Given the description of an element on the screen output the (x, y) to click on. 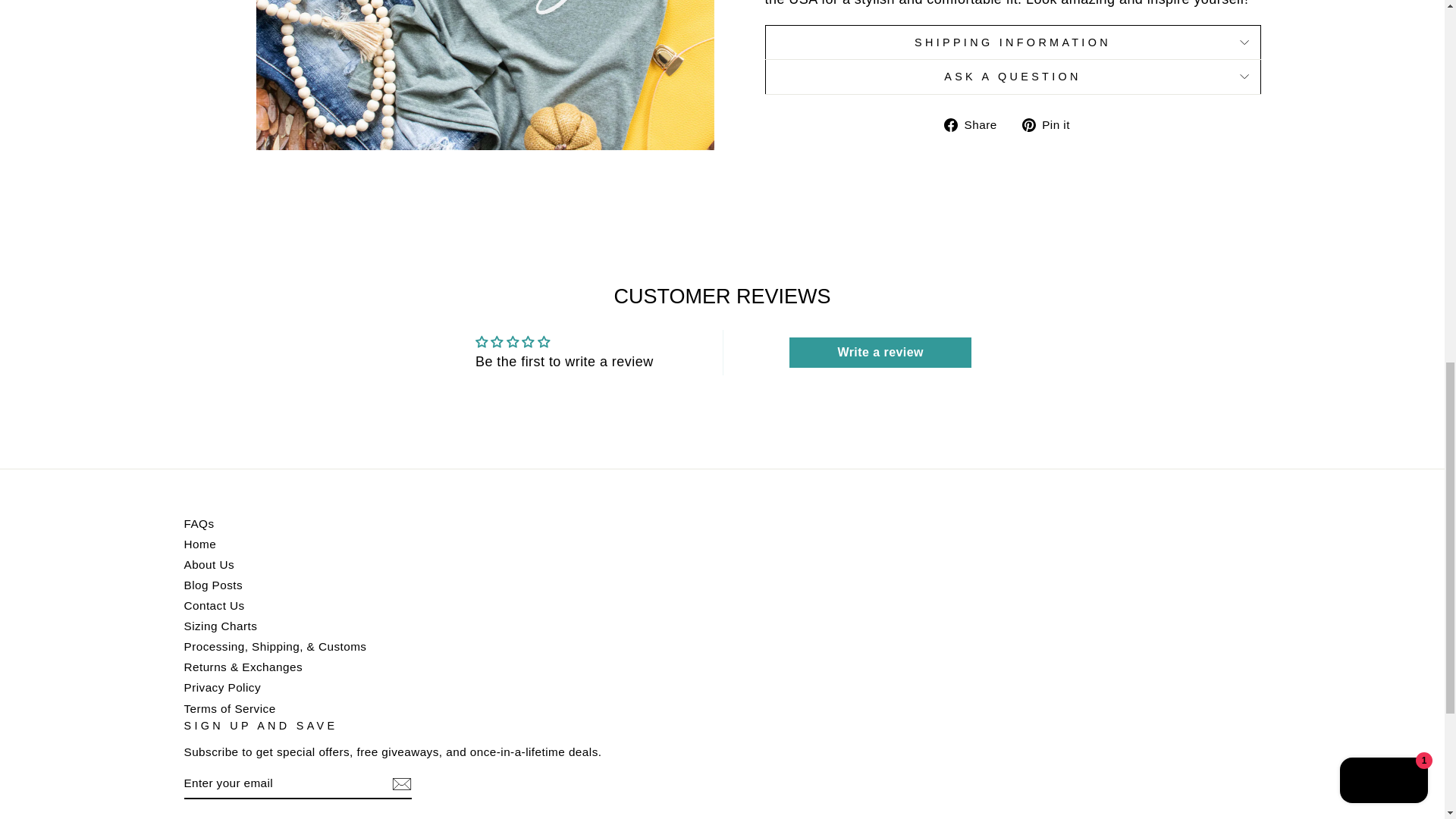
icon-email (400, 783)
Share on Facebook (976, 124)
Pin on Pinterest (1051, 124)
